Given the description of an element on the screen output the (x, y) to click on. 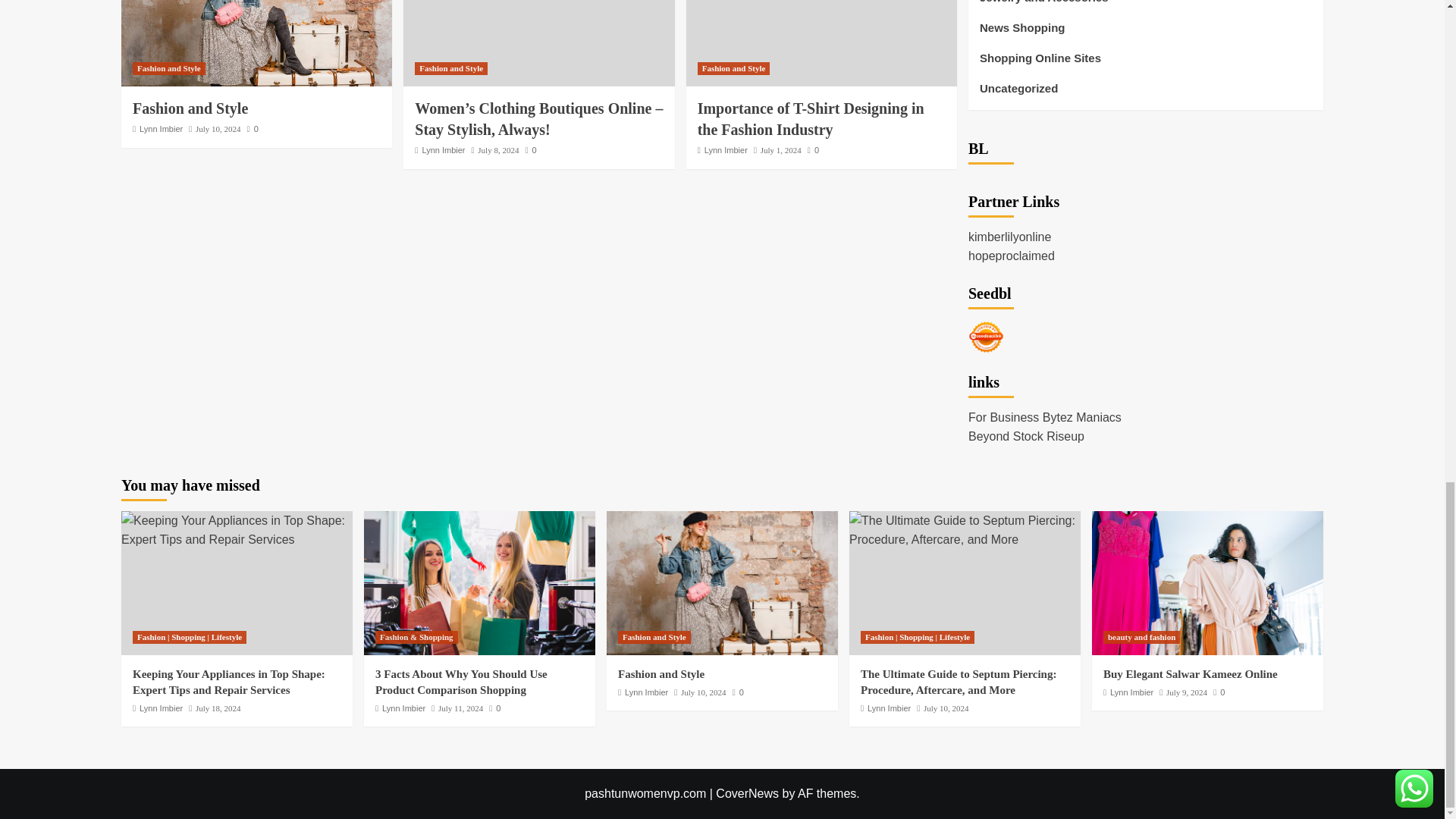
July 10, 2024 (218, 128)
0 (253, 128)
Seedbacklink (986, 336)
Fashion and Style (450, 68)
Fashion and Style (722, 583)
3 Facts About Why You Should Use Product Comparison Shopping (479, 583)
Fashion and Style (255, 43)
Lynn Imbier (443, 149)
Lynn Imbier (161, 128)
Fashion and Style (189, 108)
Fashion and Style (168, 68)
July 8, 2024 (497, 149)
Buy Elegant Salwar Kameez Online (1207, 583)
